Given the description of an element on the screen output the (x, y) to click on. 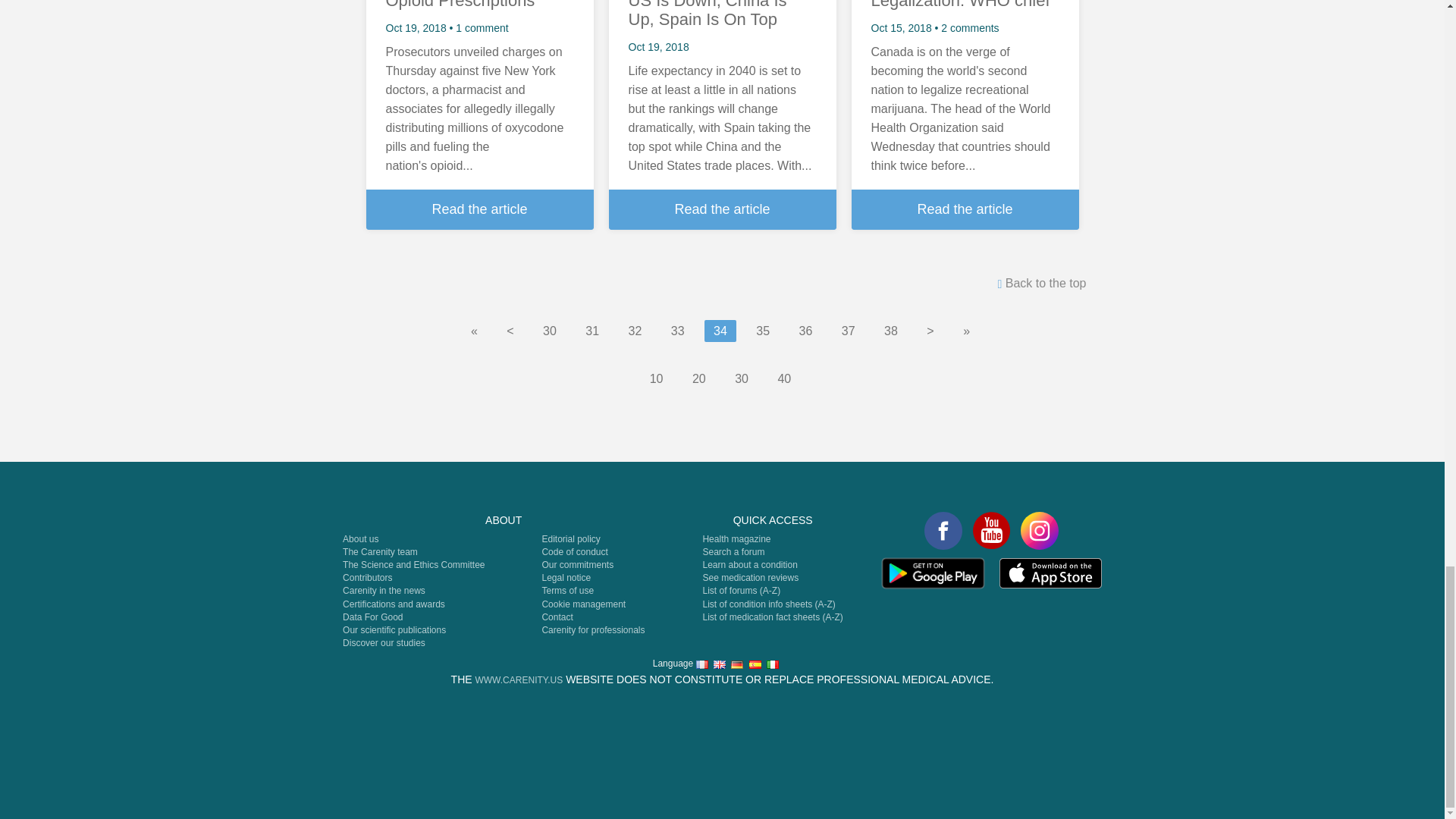
Italian (772, 664)
French (701, 664)
English (719, 664)
German (736, 664)
Spanish (755, 664)
